Given the description of an element on the screen output the (x, y) to click on. 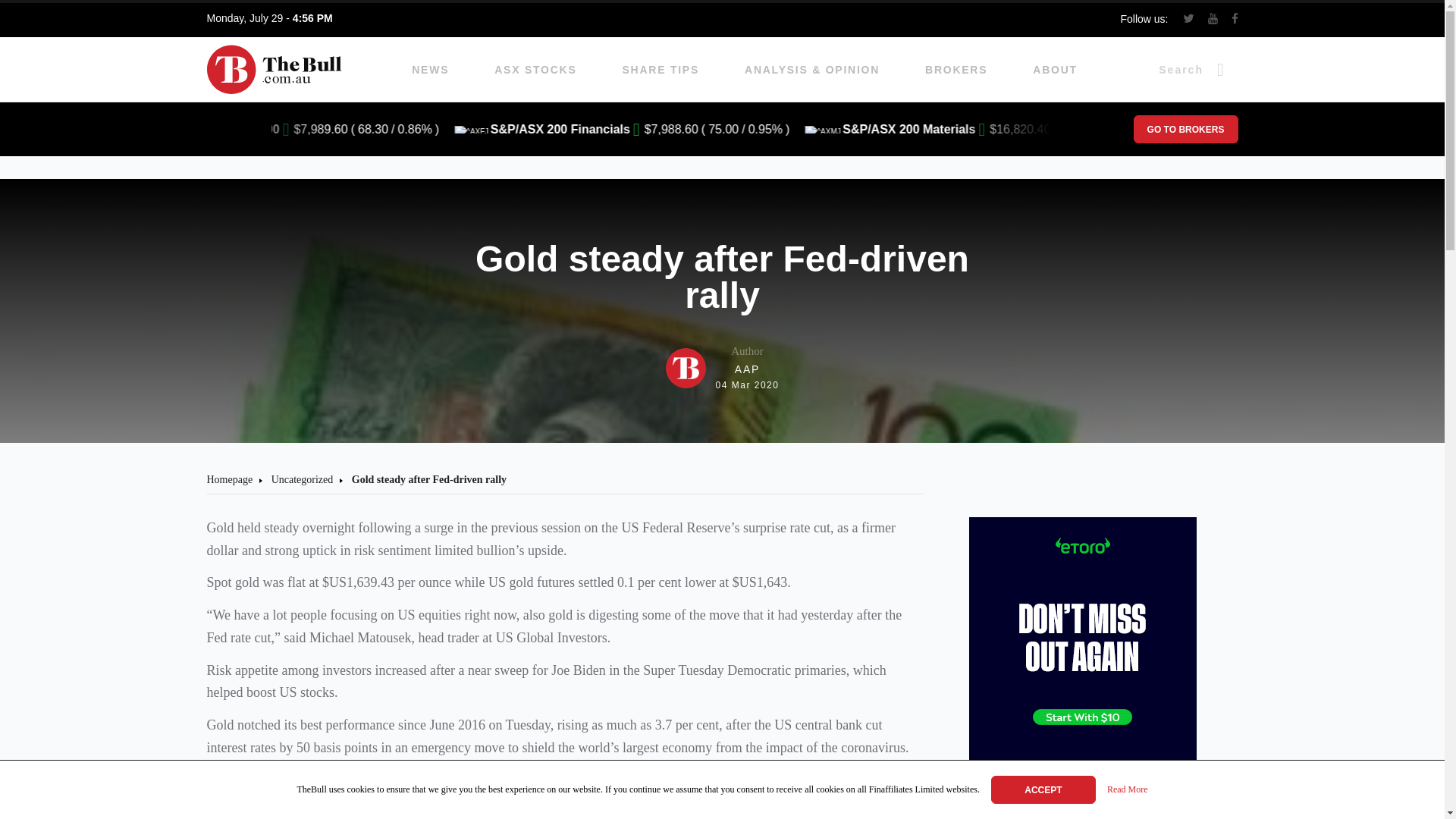
GO TO BROKERS (721, 367)
SHARE TIPS (1184, 129)
ACCEPT (661, 69)
NEWS (1043, 789)
Homepage (430, 69)
ABOUT (228, 479)
BROKERS (1054, 69)
ASX STOCKS (955, 69)
Read More (535, 69)
Uncategorized (1127, 789)
